Given the description of an element on the screen output the (x, y) to click on. 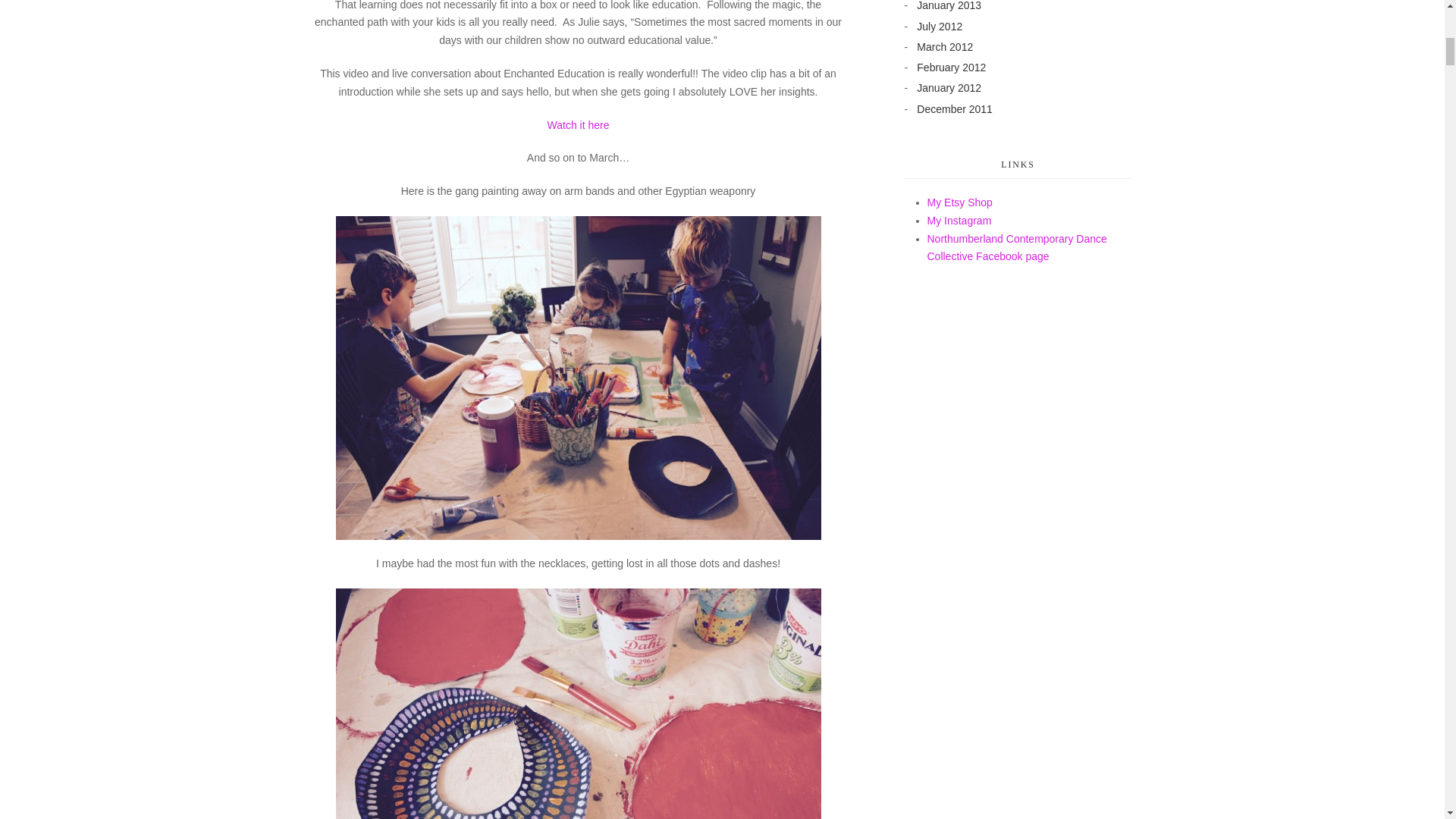
Watch it here (578, 124)
